Given the description of an element on the screen output the (x, y) to click on. 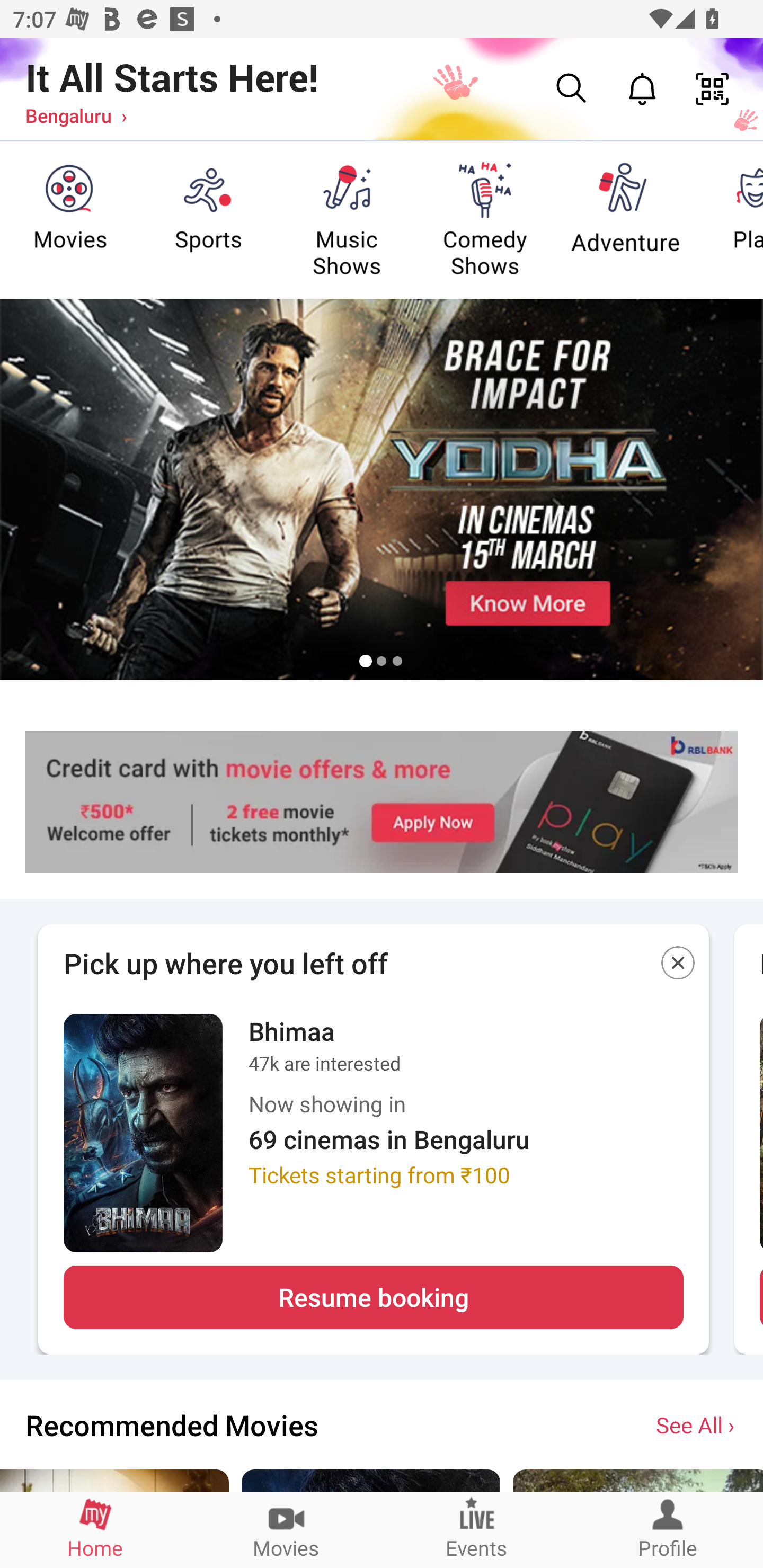
Bengaluru  › (76, 114)
  (678, 966)
Resume booking (373, 1297)
See All › (696, 1424)
Home (95, 1529)
Movies (285, 1529)
Events (476, 1529)
Profile (667, 1529)
